Given the description of an element on the screen output the (x, y) to click on. 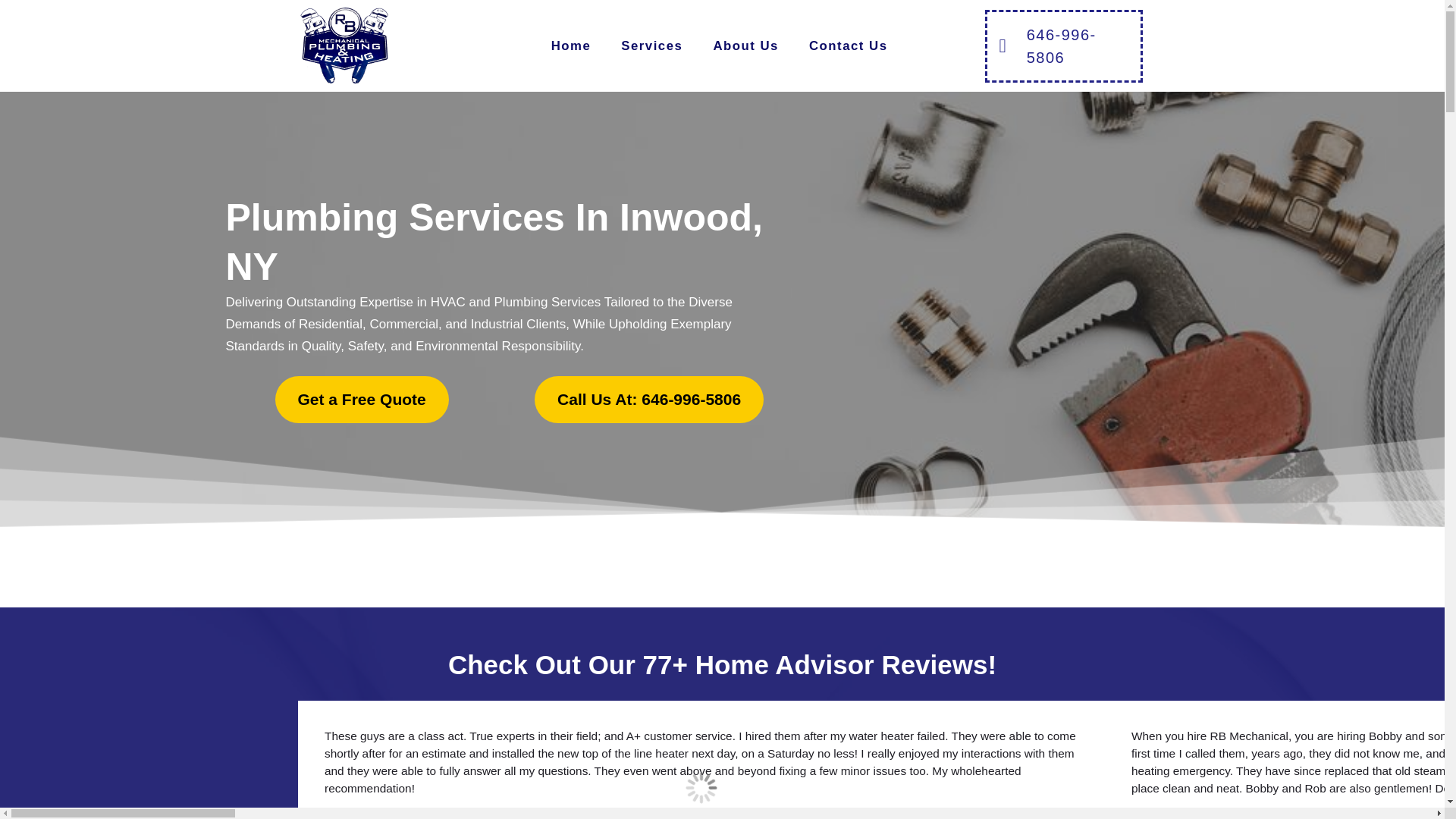
646-996-5806 (1063, 45)
Get a Free Quote (361, 399)
Call Us At: 646-996-5806 (648, 399)
Home (571, 45)
About Us (745, 45)
Contact Us (847, 45)
Services (651, 45)
